Given the description of an element on the screen output the (x, y) to click on. 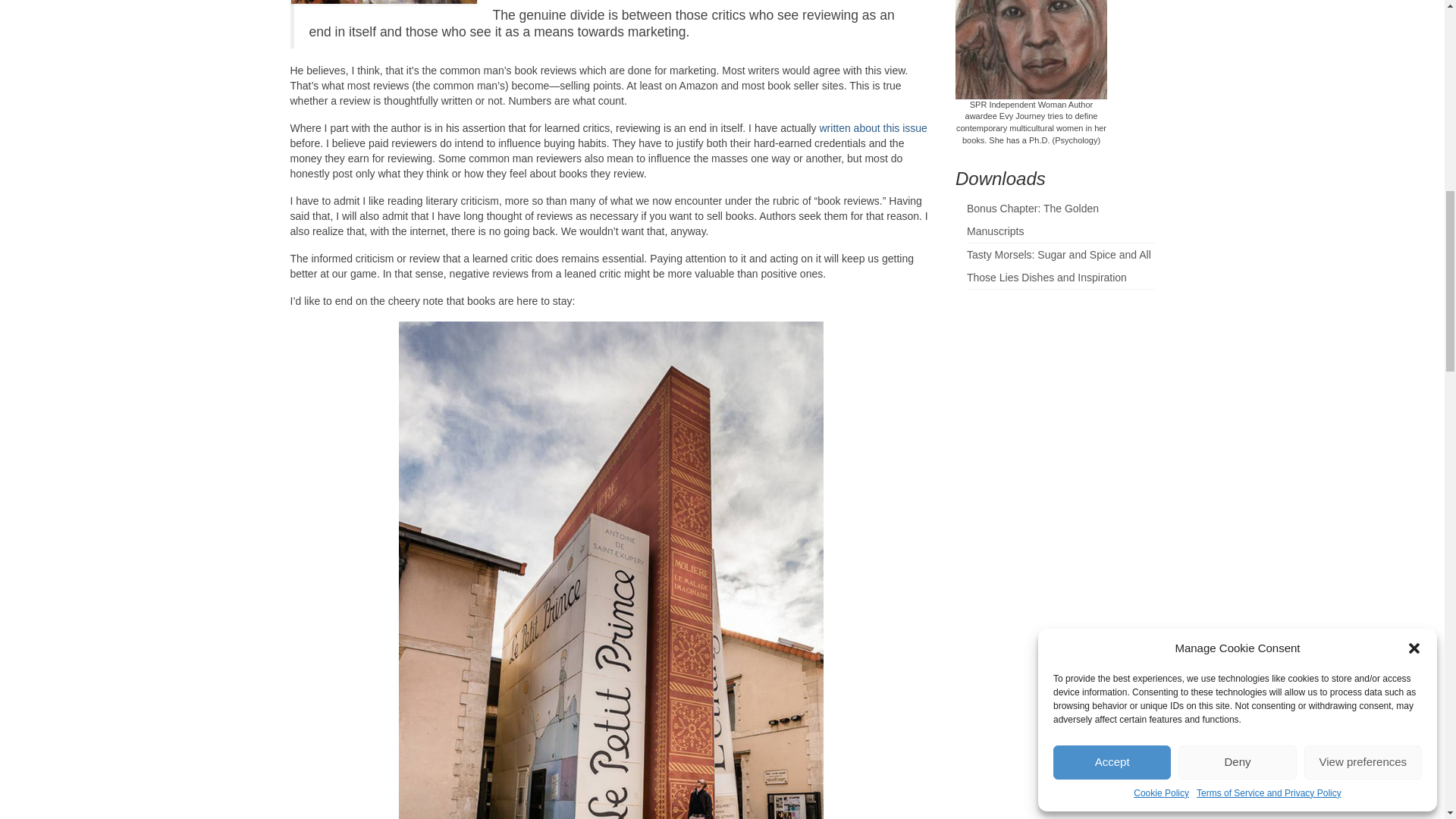
Bonus Chapter: The Golden Manuscripts (1032, 219)
